Given the description of an element on the screen output the (x, y) to click on. 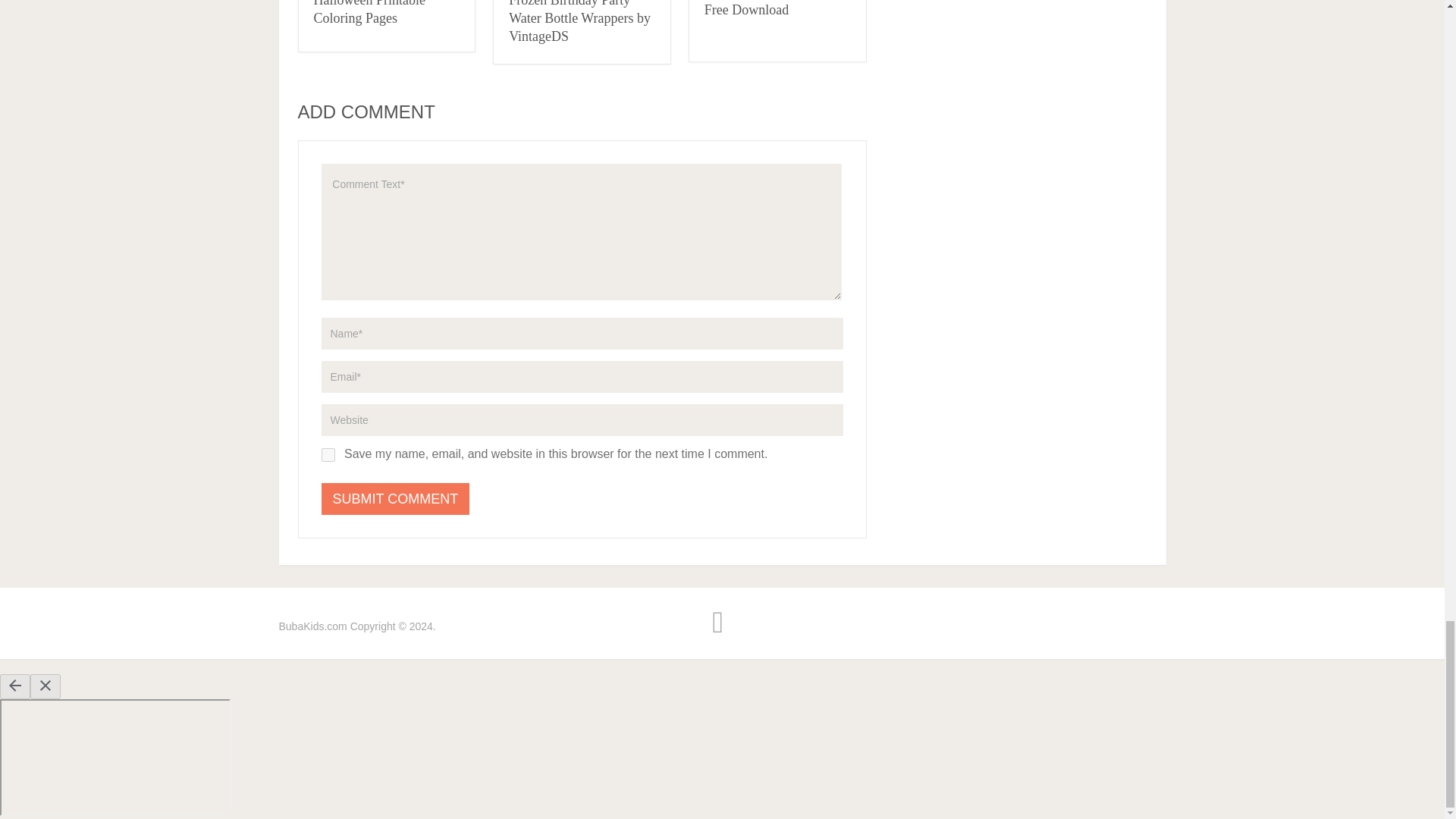
Pokemon Coloring Pages Free Download (773, 8)
Disney Princess Halloween Printable Coloring Pages (369, 12)
yes (327, 454)
Submit Comment (395, 499)
Submit Comment (395, 499)
